Given the description of an element on the screen output the (x, y) to click on. 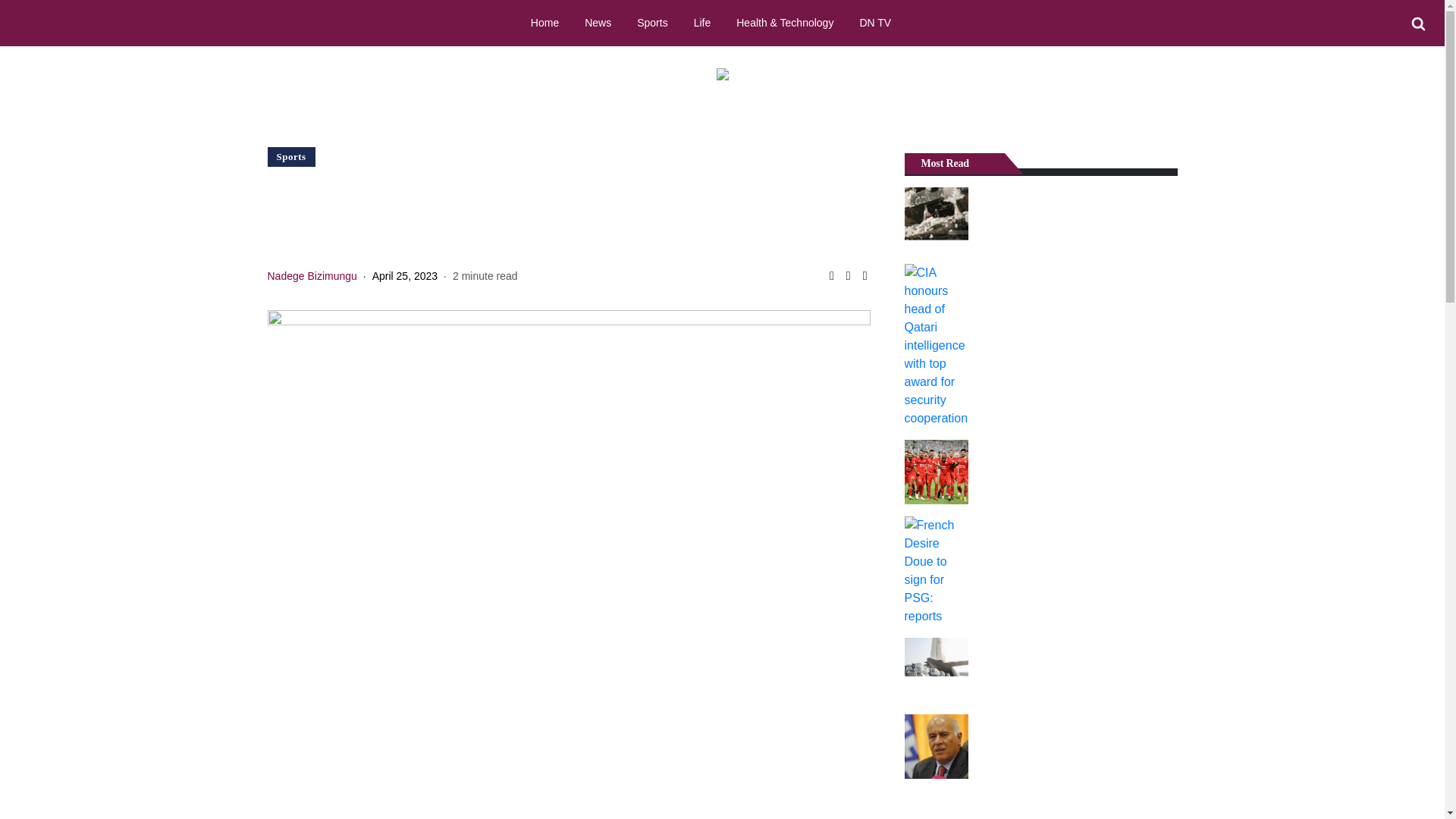
April 25, 2023 (405, 275)
Sports (290, 156)
Search (1417, 23)
Nadege Bizimungu (311, 275)
View all posts by Nadege Bizimungu (311, 275)
Sports (651, 22)
Home (545, 22)
Life (702, 22)
News (598, 22)
DN TV (875, 22)
